Given the description of an element on the screen output the (x, y) to click on. 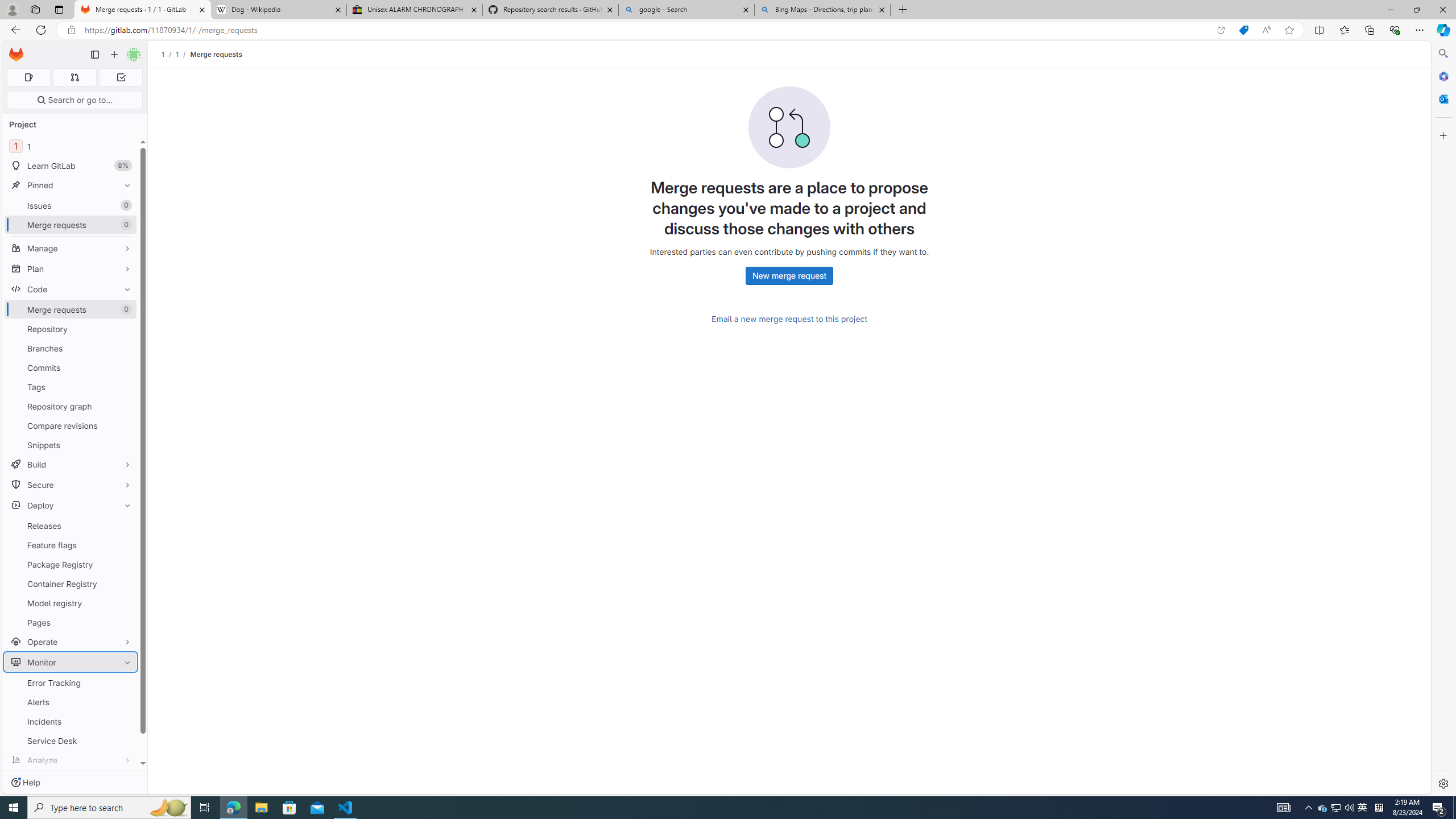
Pin Compare revisions (124, 425)
Pin Incidents (124, 721)
Compare revisions (70, 425)
Code (70, 289)
To-Do list 0 (120, 76)
Error Tracking (70, 682)
Tags (70, 386)
Branches (70, 348)
Analyze (70, 760)
